Given the description of an element on the screen output the (x, y) to click on. 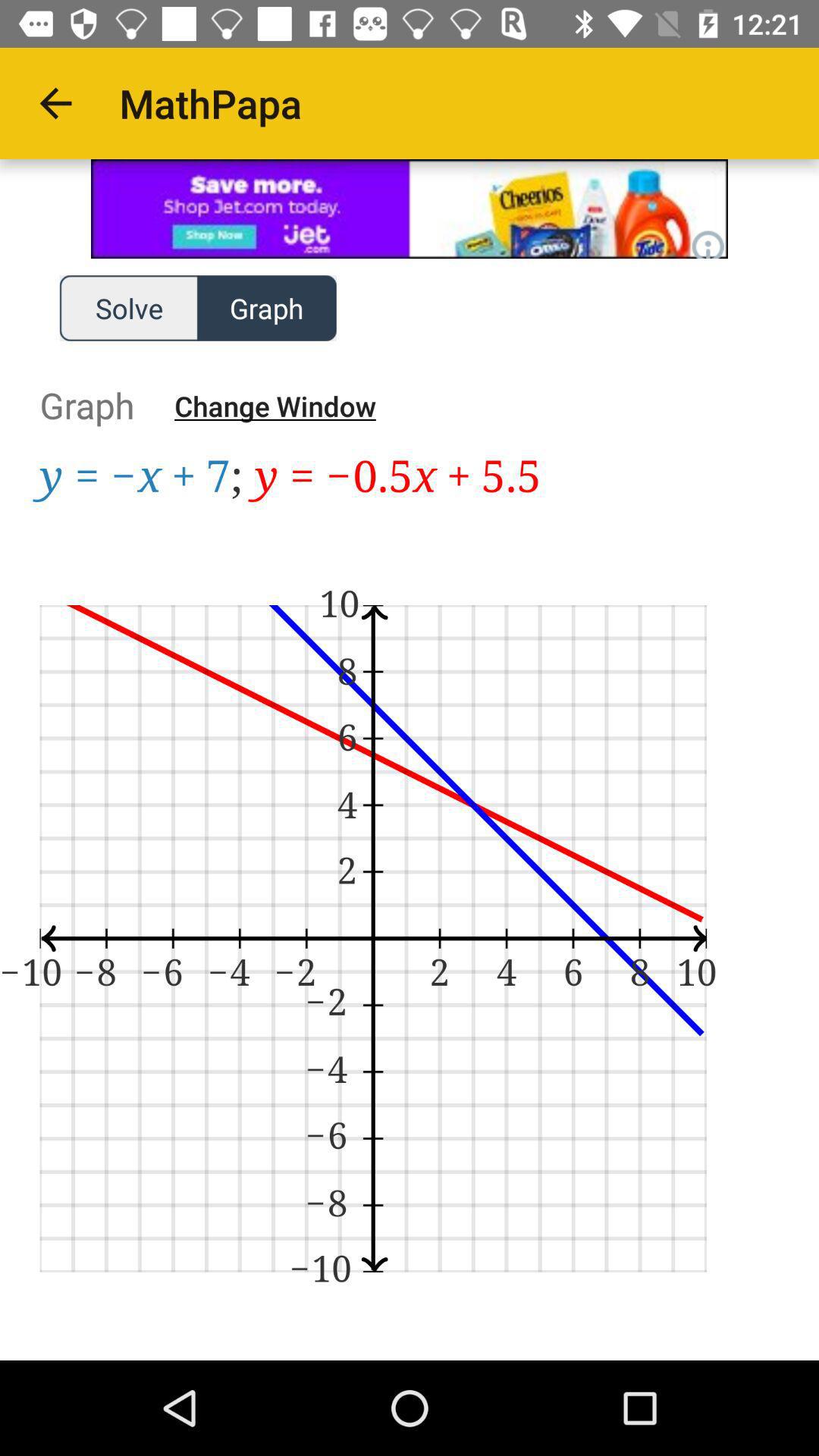
view advert (409, 208)
